Given the description of an element on the screen output the (x, y) to click on. 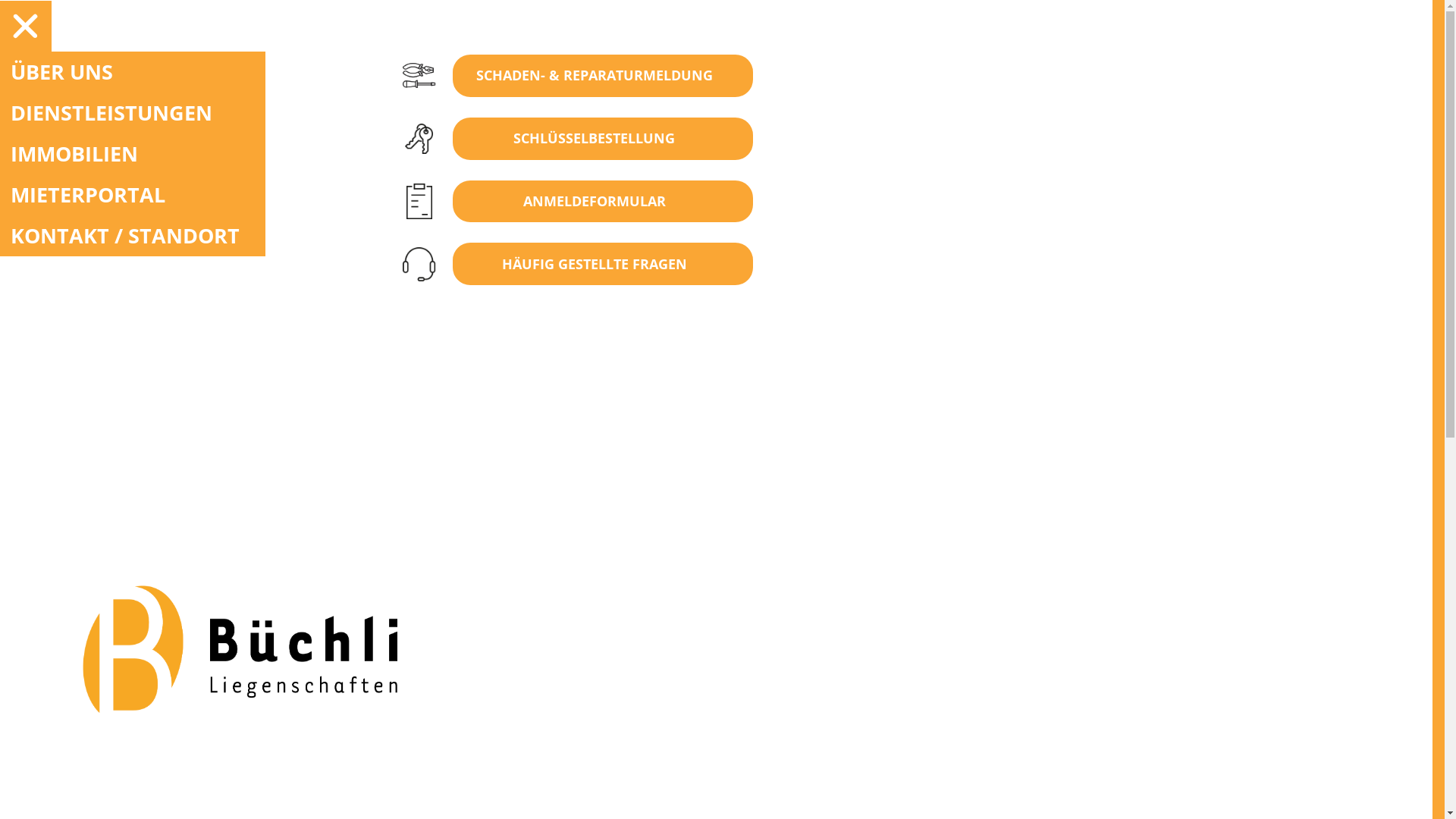
MIETERPORTAL Element type: text (132, 194)
SCHADEN- & REPARATURMELDUNG Element type: text (636, 75)
IMMOBILIEN Element type: text (132, 153)
KONTAKT / STANDORT Element type: text (132, 235)
ANMELDEFORMULAR Element type: text (636, 201)
DIENSTLEISTUNGEN Element type: text (132, 112)
